Given the description of an element on the screen output the (x, y) to click on. 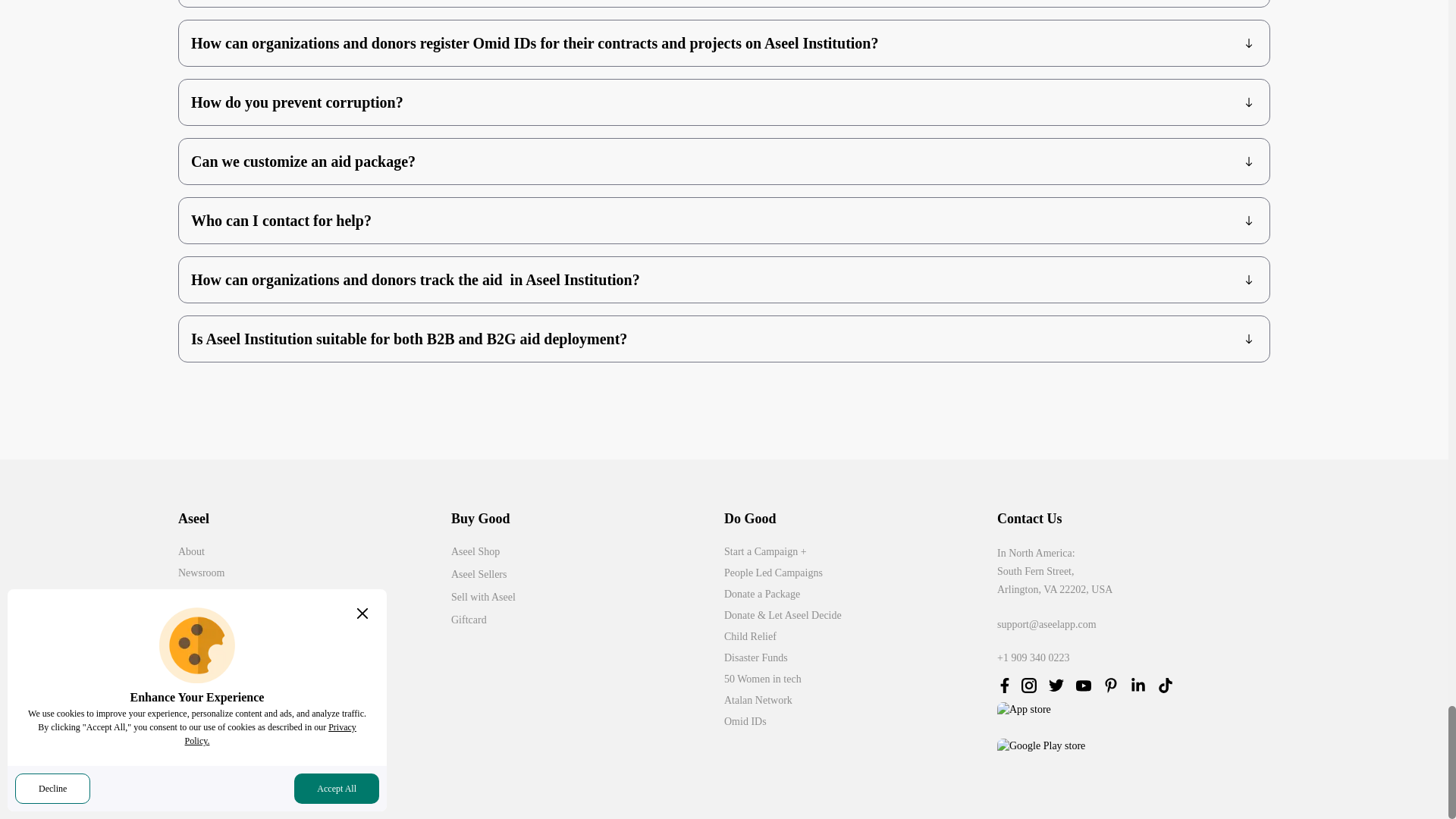
Help Center (314, 636)
Stories (314, 615)
Privacy Policy (314, 679)
Pricing (314, 743)
Aseel Institution (314, 594)
Who can I contact for help? (724, 220)
How do you prevent corruption? (724, 102)
